Given the description of an element on the screen output the (x, y) to click on. 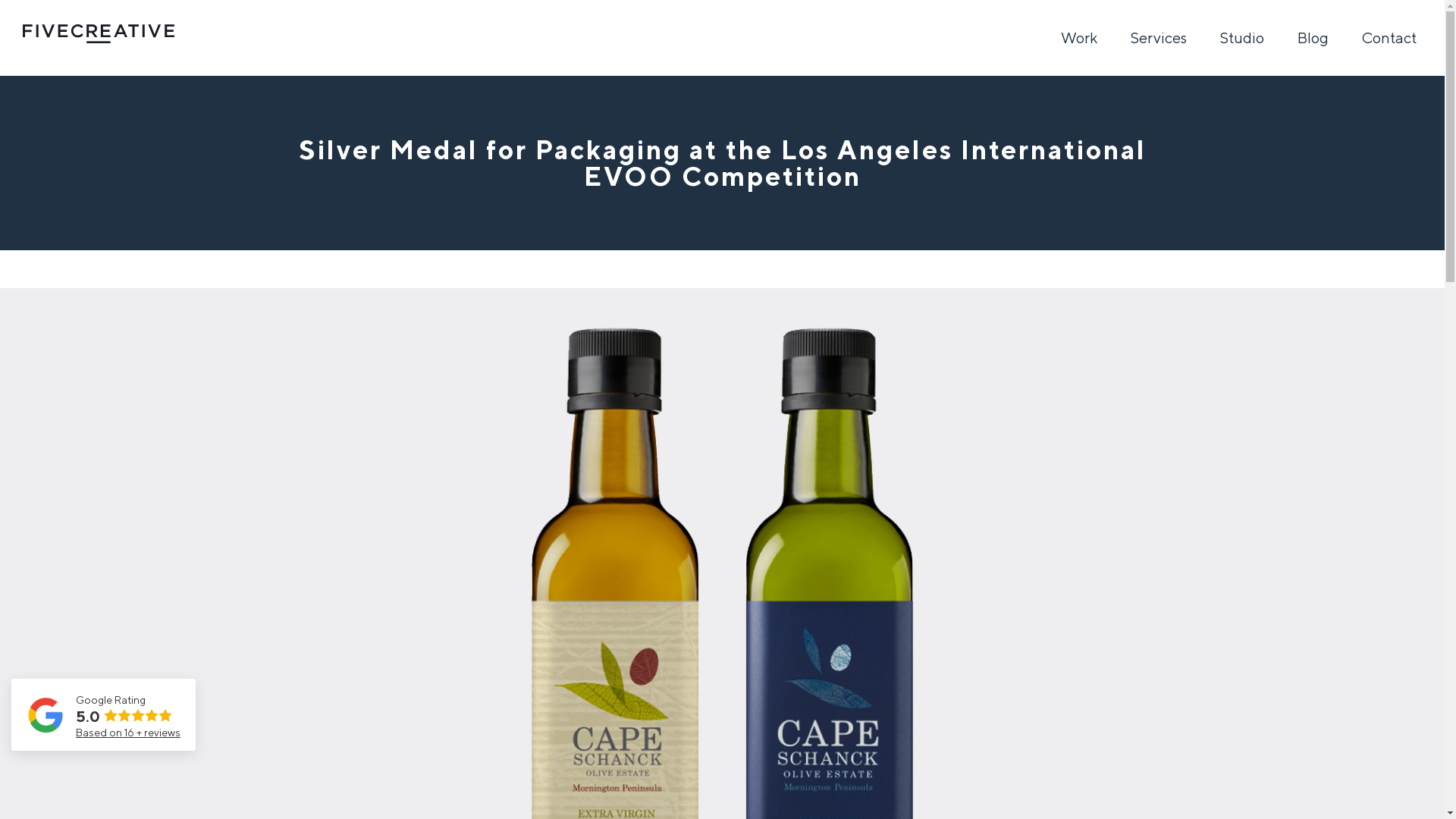
Google Rating
5.0
Based on 16 + reviews Element type: text (103, 714)
Work Element type: text (1078, 37)
Branding and Website Design Agency Element type: hover (98, 33)
Contact Element type: text (1389, 37)
Services Element type: text (1158, 37)
Blog Element type: text (1312, 37)
Studio Element type: text (1241, 37)
